Given the description of an element on the screen output the (x, y) to click on. 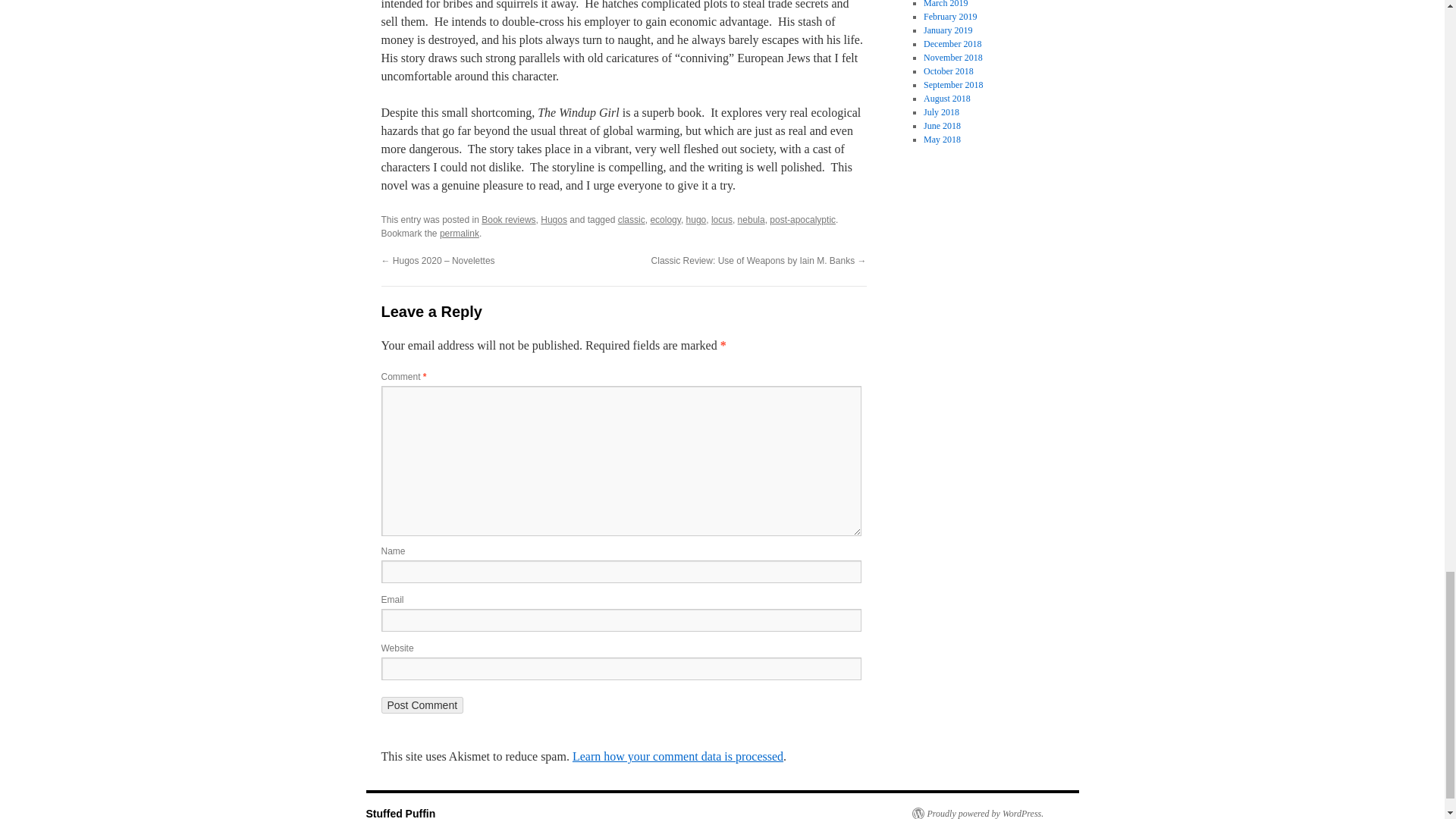
permalink (459, 233)
Post Comment (421, 704)
classic (631, 219)
locus (721, 219)
Hugos (553, 219)
post-apocalyptic (802, 219)
ecology (664, 219)
Book reviews (508, 219)
Learn how your comment data is processed (677, 756)
nebula (751, 219)
hugo (695, 219)
Post Comment (421, 704)
